Given the description of an element on the screen output the (x, y) to click on. 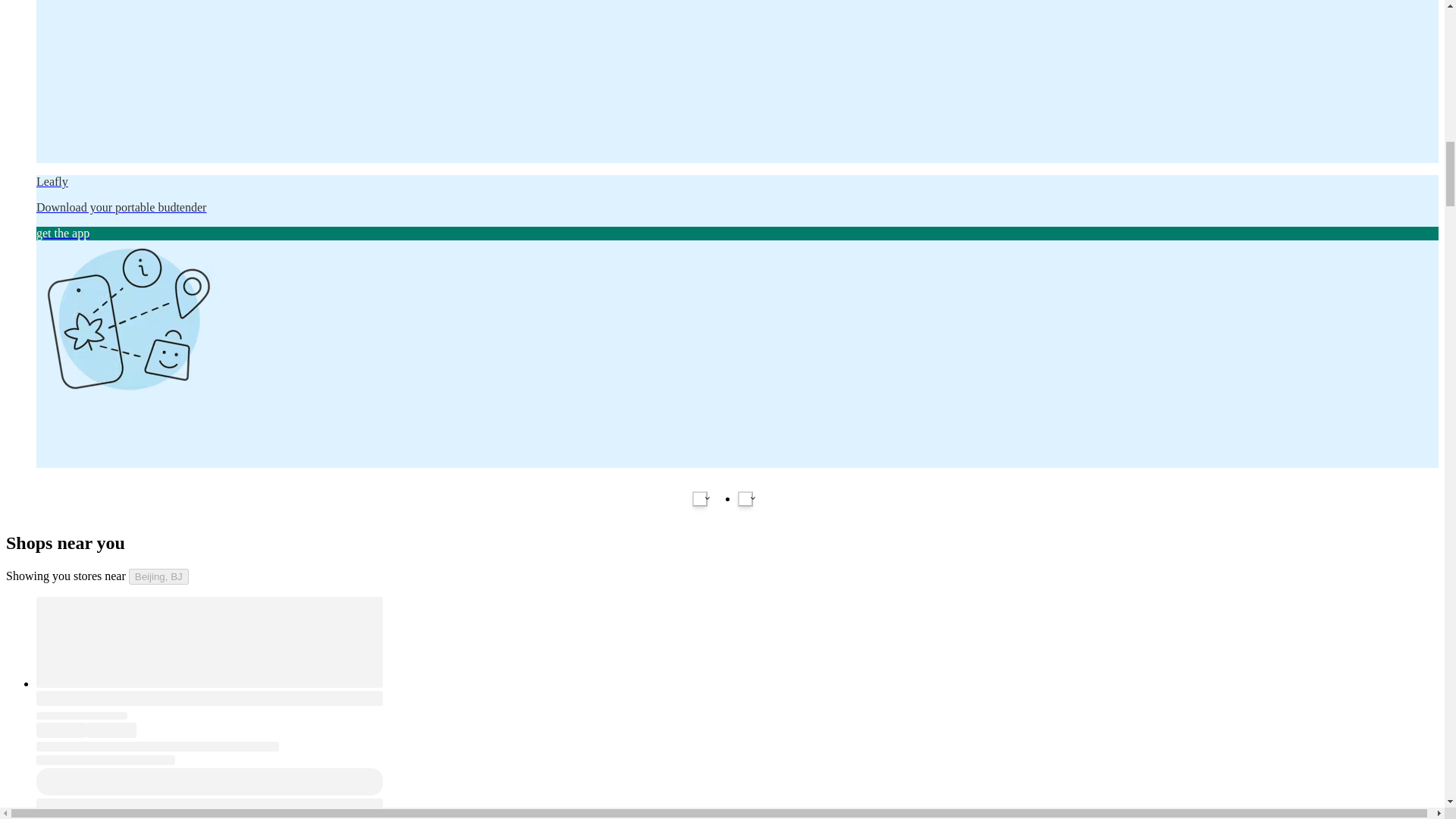
Loading... (110, 729)
Loading... (82, 715)
Loading... (209, 697)
Loading... (60, 729)
Loading... (209, 641)
